Given the description of an element on the screen output the (x, y) to click on. 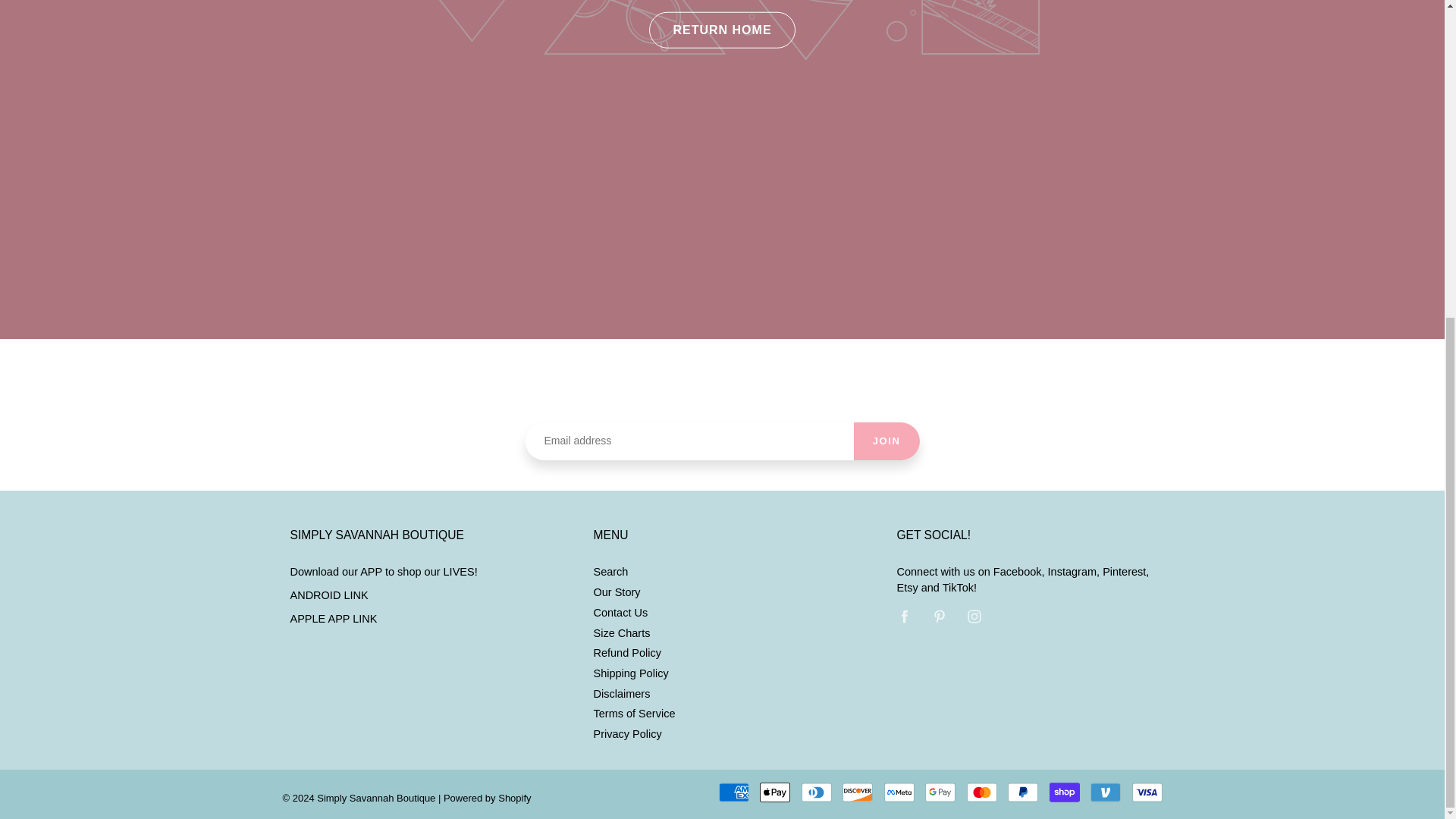
Visa (1146, 792)
Meta Pay (898, 792)
Venmo (1105, 792)
Google Pay (939, 792)
PayPal (1022, 792)
Apple Pay (775, 792)
Pinterest (939, 616)
Mastercard (981, 792)
Discover (857, 792)
Facebook (904, 616)
Instagram (974, 616)
Shop Pay (1064, 792)
American Express (734, 792)
Diners Club (816, 792)
